Given the description of an element on the screen output the (x, y) to click on. 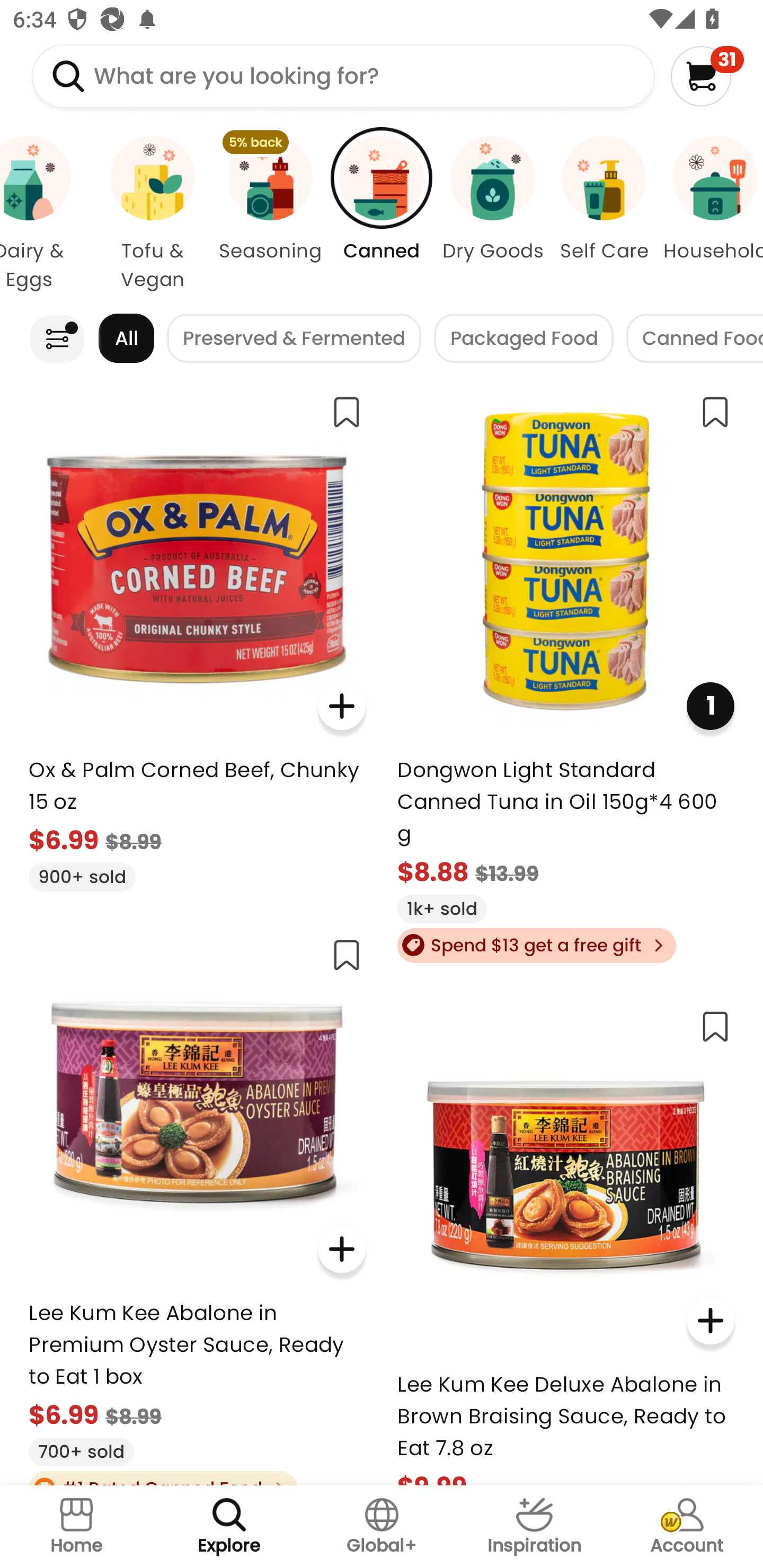
What are you looking for? (343, 75)
31 (706, 75)
Dairy & Eggs (45, 214)
Tofu & Vegan (152, 214)
5% back Seasoning (269, 214)
Canned (381, 214)
Dry Goods (492, 214)
Self Care (603, 214)
Household (711, 214)
All (126, 337)
Preserved & Fermented (294, 337)
Packaged Food (523, 337)
Canned Food (694, 337)
1 (710, 706)
Home (76, 1526)
Explore (228, 1526)
Global+ (381, 1526)
Inspiration (533, 1526)
Account (686, 1526)
